Given the description of an element on the screen output the (x, y) to click on. 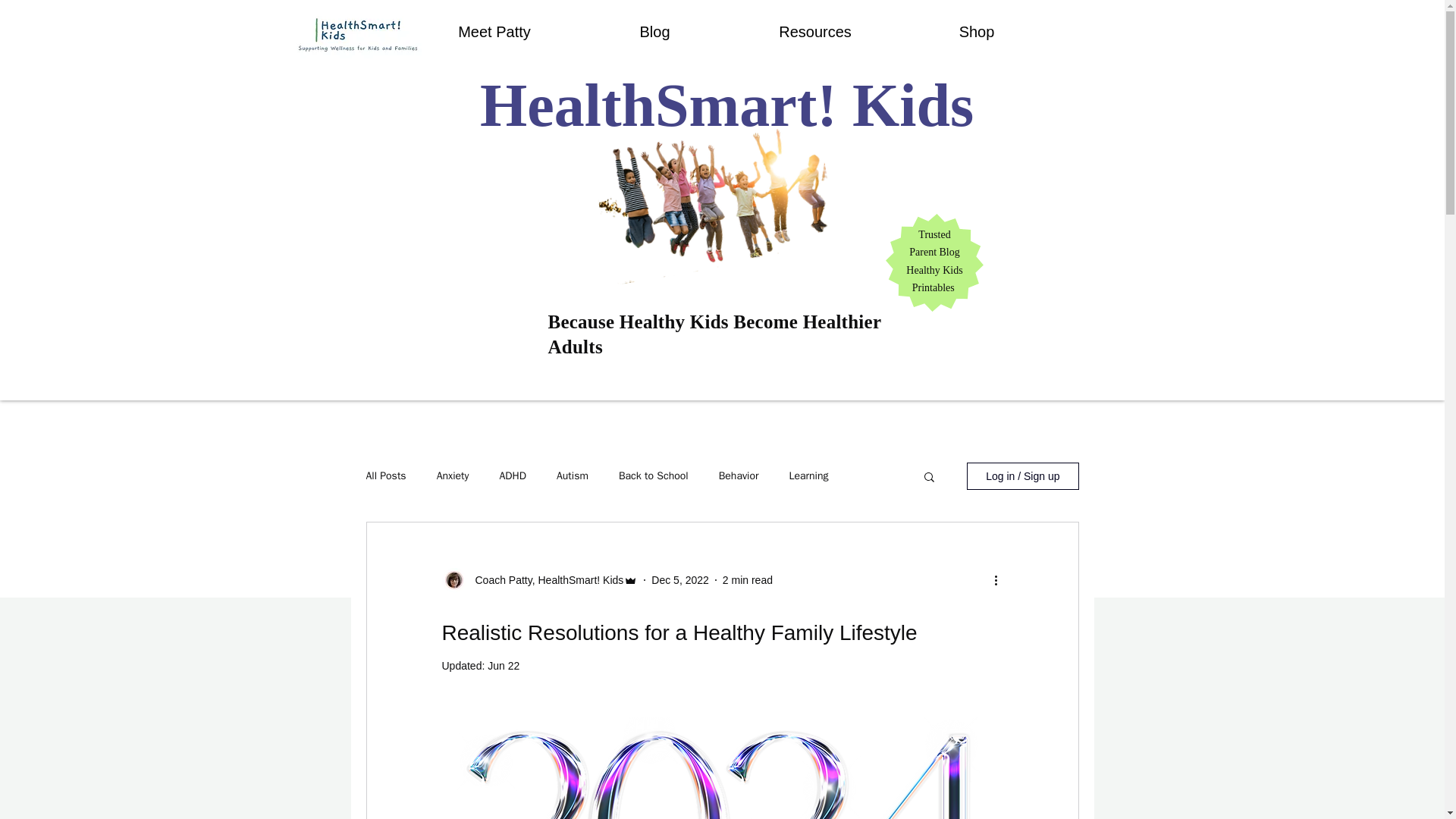
All Posts (385, 476)
Anxiety (452, 476)
Meet Patty (494, 32)
Back to School (653, 476)
Resources (814, 32)
Coach Patty, HealthSmart! Kids (544, 579)
ADHD (512, 476)
2 min read (747, 579)
Behavior (738, 476)
Autism (572, 476)
Learning (808, 476)
Shop (976, 32)
Blog (654, 32)
Dec 5, 2022 (679, 579)
Jun 22 (503, 665)
